Given the description of an element on the screen output the (x, y) to click on. 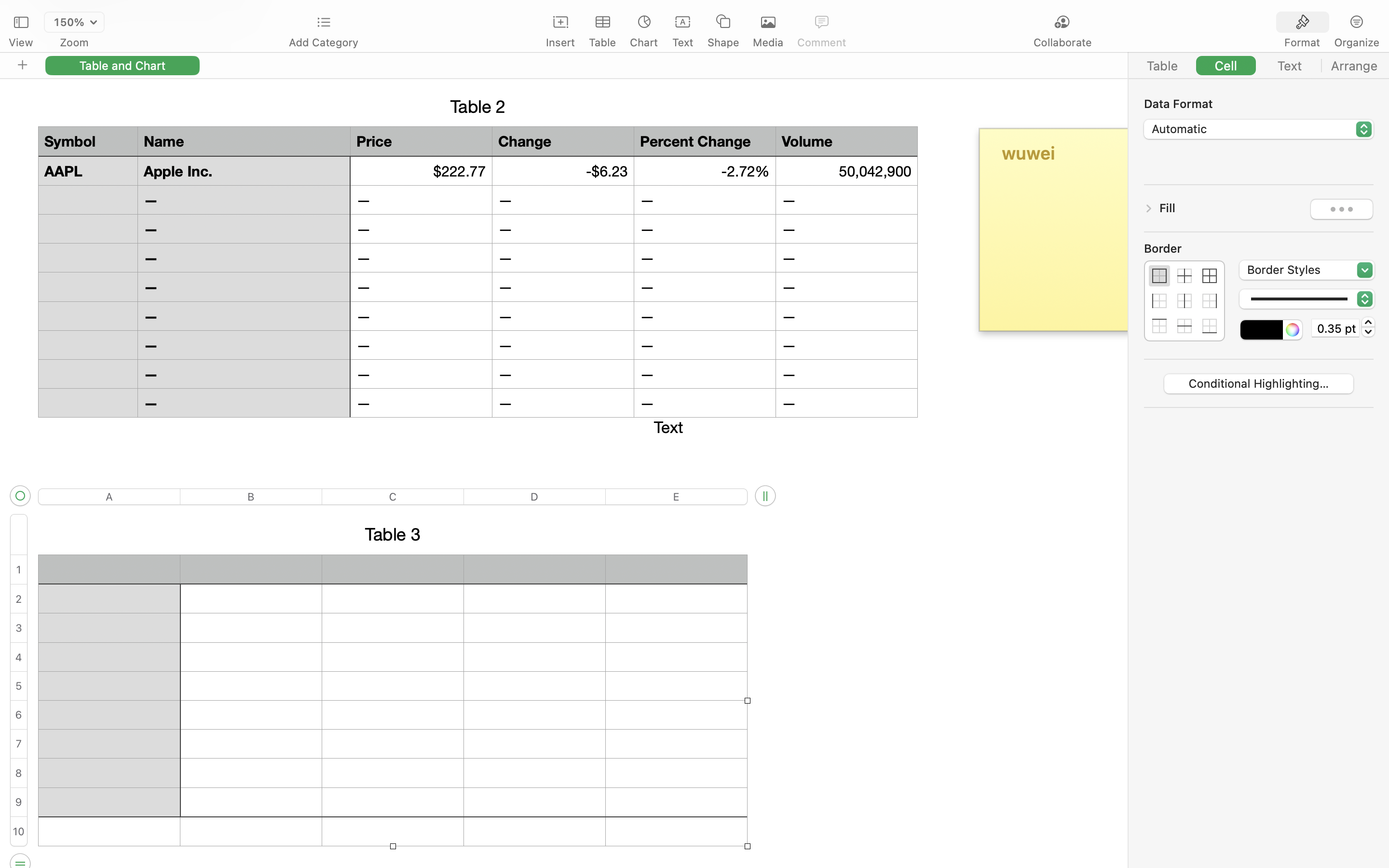
Data Format Element type: AXStaticText (1258, 103)
0.3499999940395355 Element type: AXIncrementor (1368, 326)
Media Element type: AXStaticText (767, 42)
Organize Element type: AXStaticText (1356, 42)
